Given the description of an element on the screen output the (x, y) to click on. 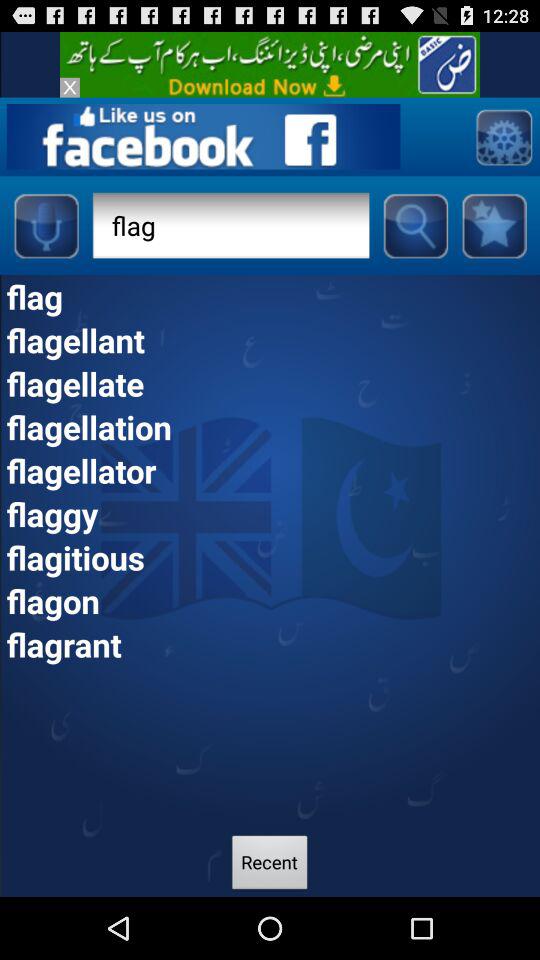
advetisment page (503, 136)
